Given the description of an element on the screen output the (x, y) to click on. 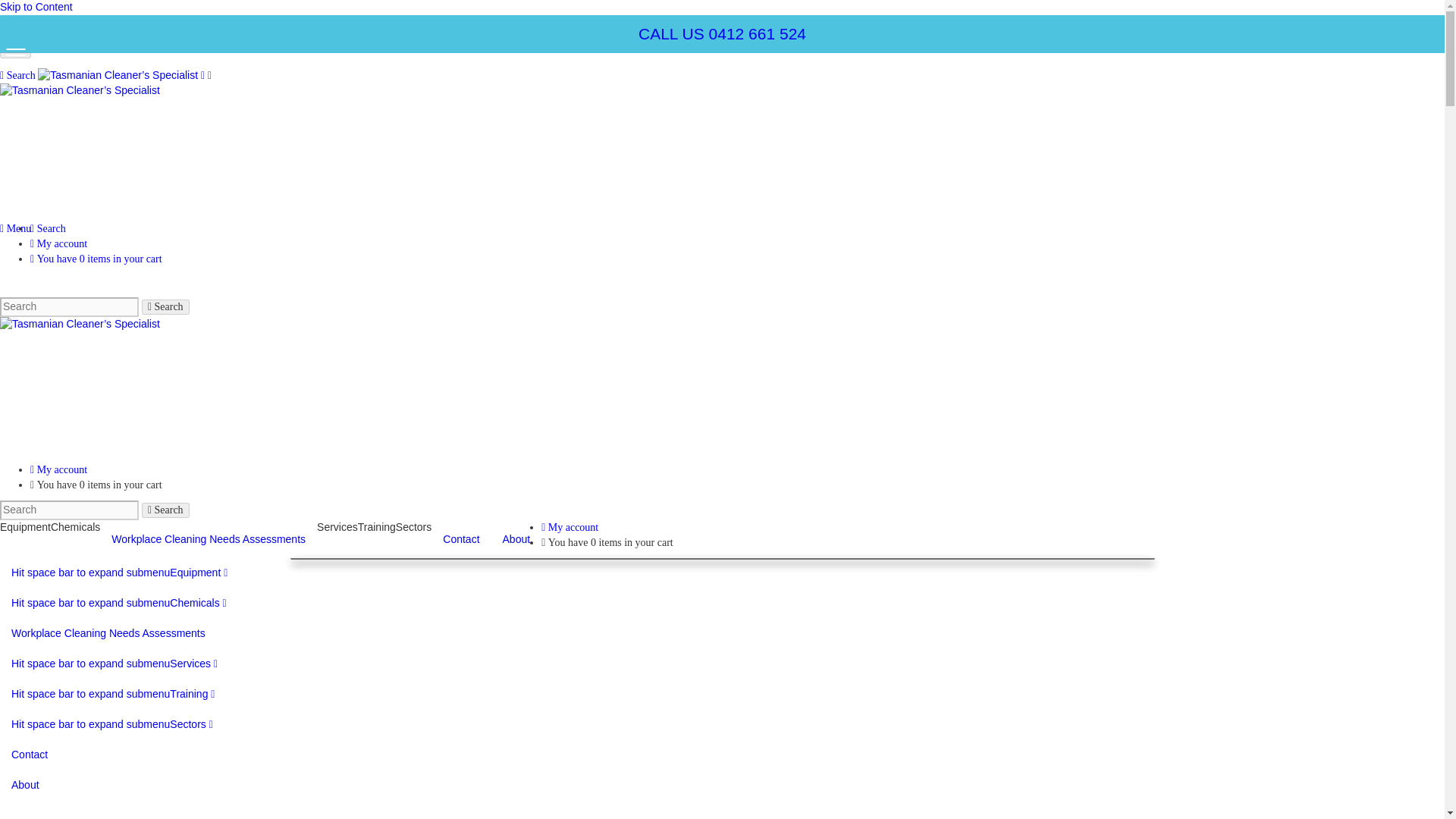
You have 0 items in your cart (95, 484)
Search (165, 306)
My account (58, 469)
You have 0 items in your cart (95, 258)
My account (58, 243)
Search (165, 509)
Menu (15, 228)
Skip to Content (36, 6)
Search (18, 75)
Search (47, 228)
CALL US 0412 661 524 (722, 33)
